Given the description of an element on the screen output the (x, y) to click on. 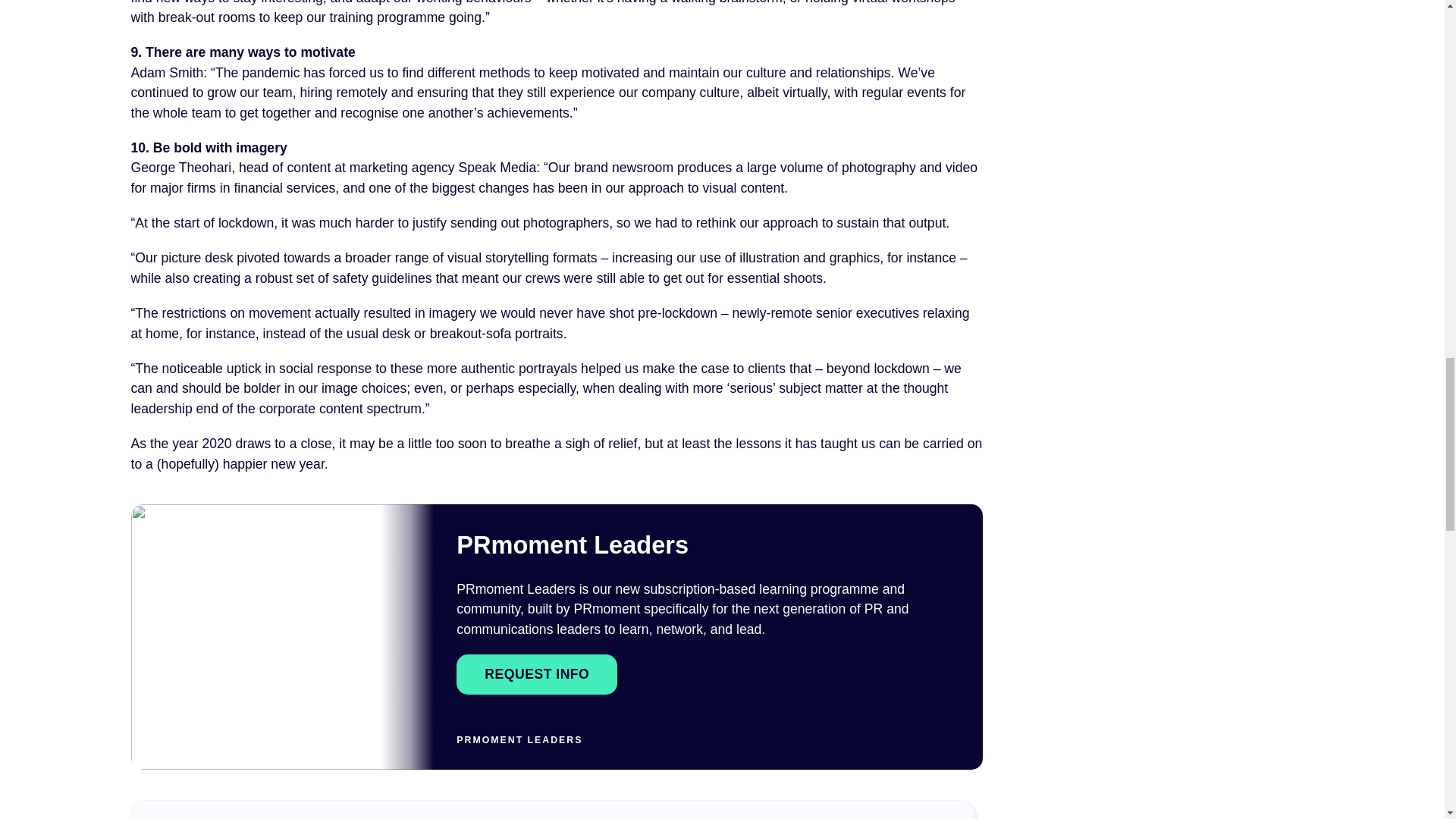
REQUEST INFO (537, 674)
